Given the description of an element on the screen output the (x, y) to click on. 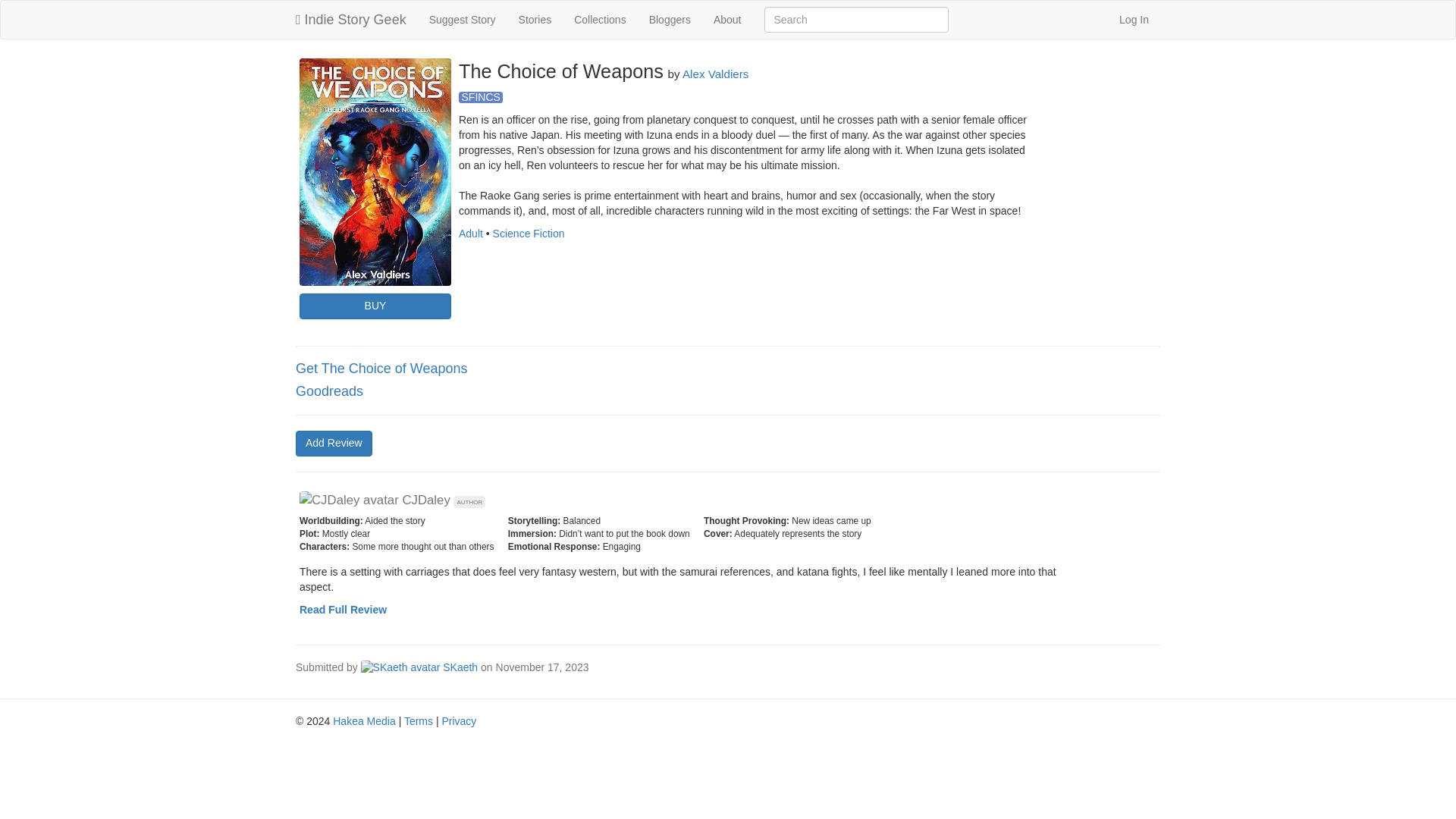
Read Full Review (343, 609)
Stories (534, 19)
Collections (599, 19)
Science Fiction (528, 233)
Privacy (458, 720)
Suggest Story (461, 19)
Terms (418, 720)
BUY (375, 306)
Bloggers (669, 19)
Alex Valdiers (715, 73)
Adult (470, 233)
Hakea Media (364, 720)
Add Review (333, 443)
CJDaley author (391, 500)
Log In (1134, 19)
